Given the description of an element on the screen output the (x, y) to click on. 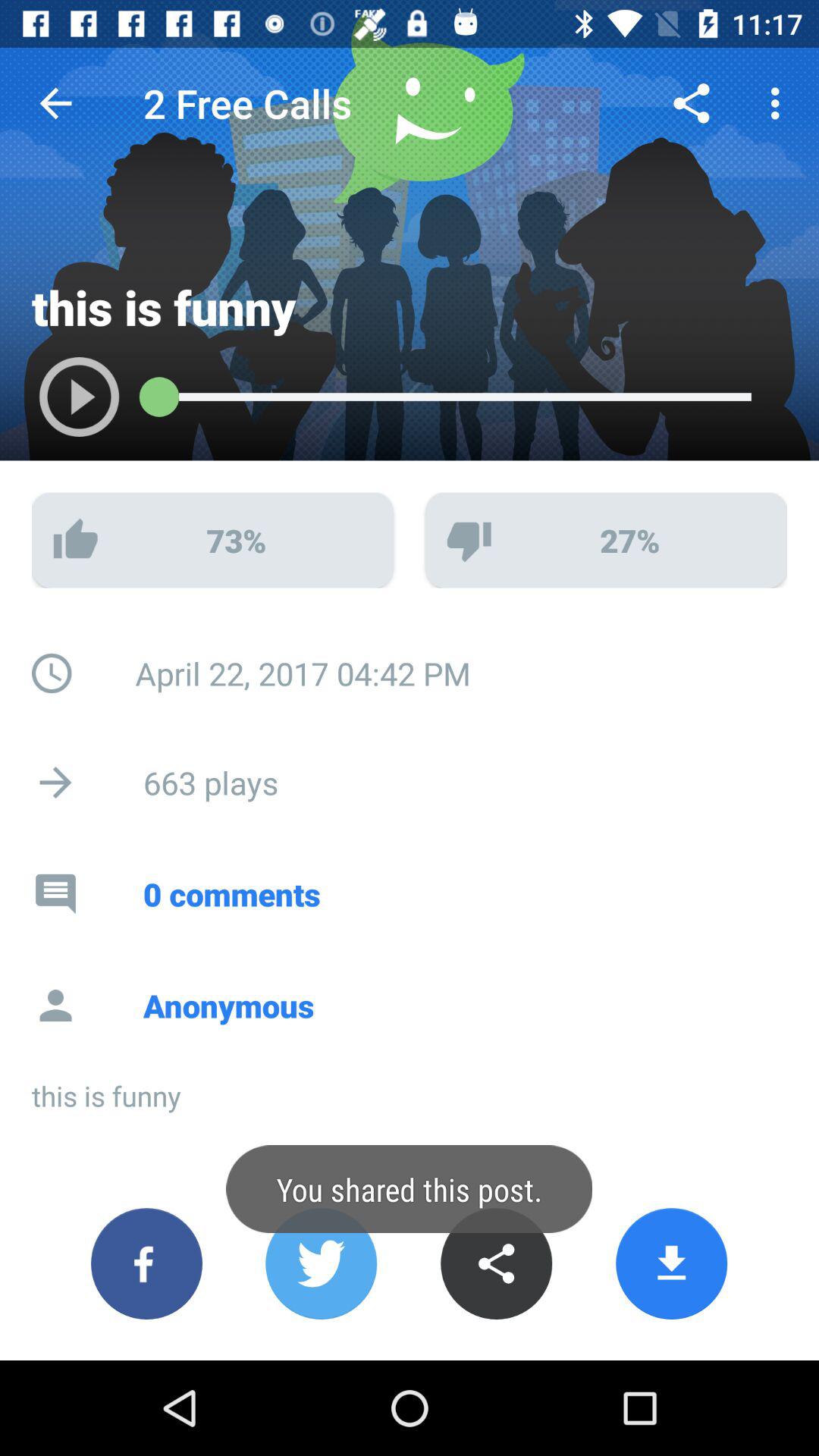
share option (496, 1263)
